Given the description of an element on the screen output the (x, y) to click on. 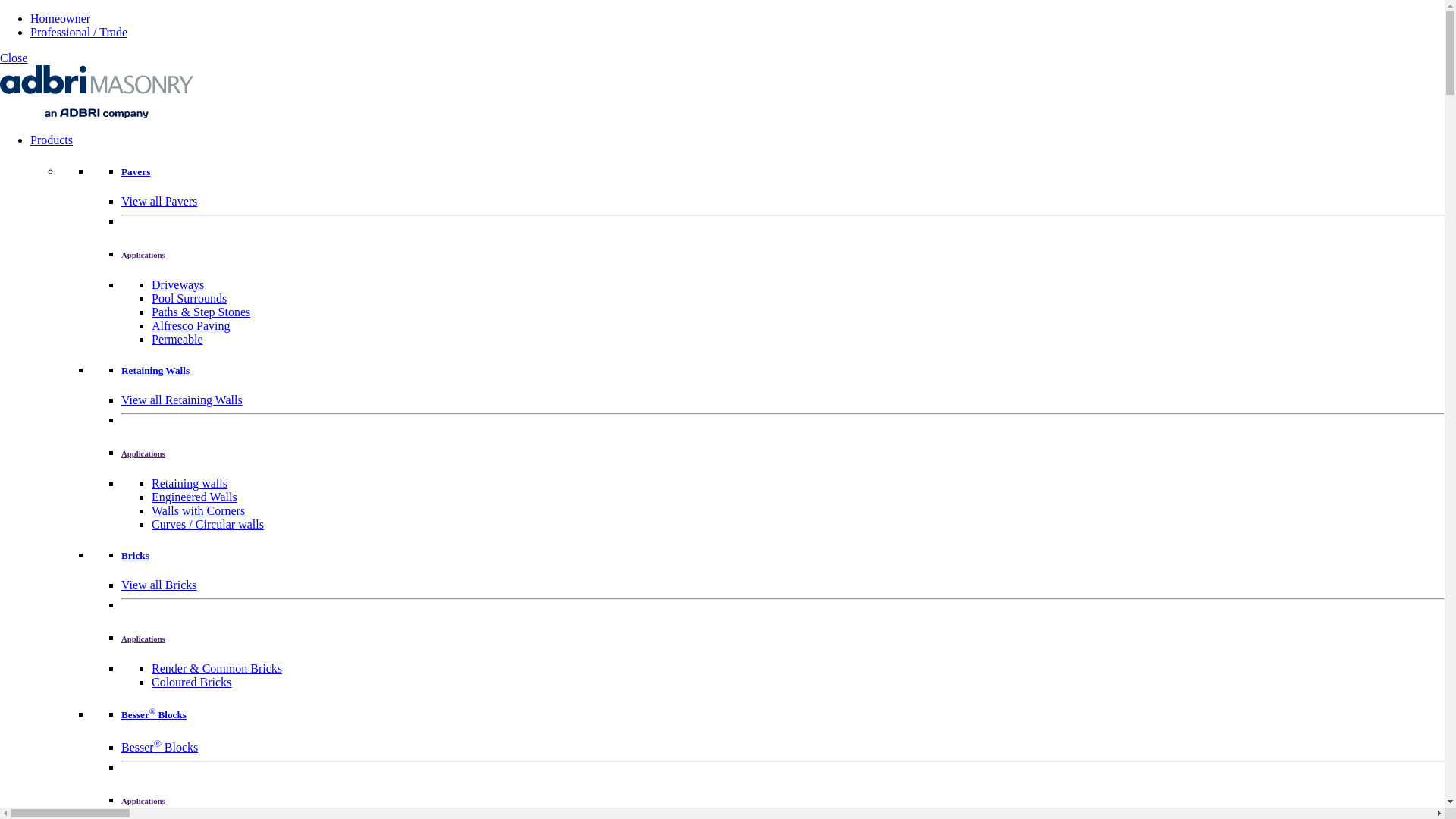
Close Element type: text (13, 57)
Applications Element type: text (143, 638)
Adbri Masonry Element type: hover (96, 113)
Retaining Walls Element type: text (155, 370)
Render & Common Bricks Element type: text (216, 668)
Bricks Element type: text (135, 555)
Professional / Trade Element type: text (78, 31)
Engineered Walls Element type: text (194, 496)
Paths & Step Stones Element type: text (200, 311)
Alfresco Paving Element type: text (190, 325)
Curves / Circular walls Element type: text (207, 523)
Applications Element type: text (143, 254)
Applications Element type: text (143, 800)
Applications Element type: text (143, 453)
Driveways Element type: text (177, 284)
Homeowner Element type: text (60, 18)
Coloured Bricks Element type: text (191, 681)
View all Bricks Element type: text (158, 584)
View all Pavers Element type: text (159, 200)
Walls with Corners Element type: text (197, 510)
View all Retaining Walls Element type: text (181, 399)
Products Element type: text (51, 139)
Permeable Element type: text (177, 338)
Pavers Element type: text (135, 171)
Pool Surrounds Element type: text (188, 297)
Retaining walls Element type: text (189, 482)
